Given the description of an element on the screen output the (x, y) to click on. 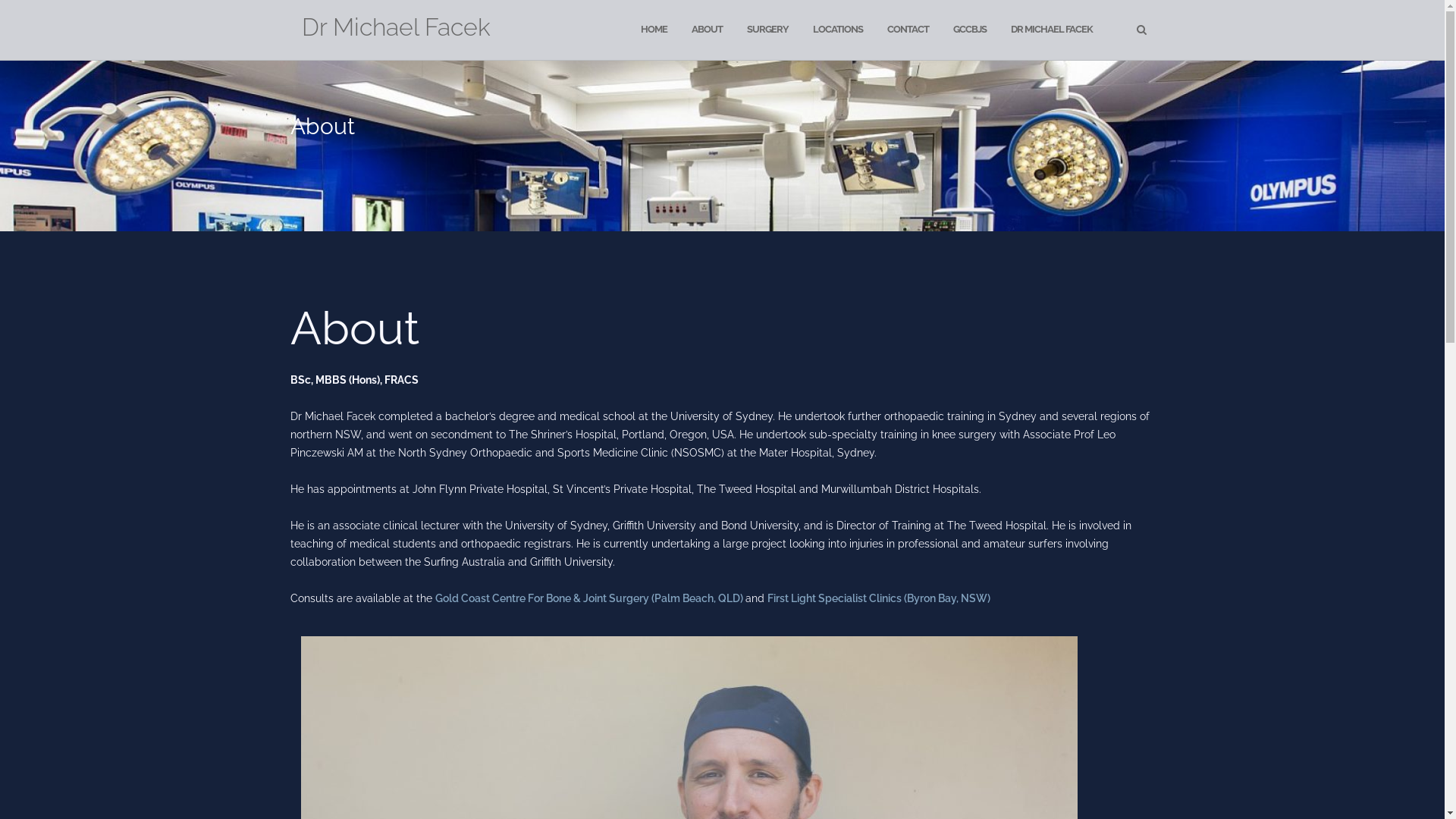
ABOUT Element type: text (706, 29)
DR MICHAEL FACEK Element type: text (1051, 29)
Gold Coast Centre For Bone & Joint Surgery (Palm Beach, QLD) Element type: text (590, 598)
Dr Michael Facek Element type: text (395, 29)
First Light Specialist Clinics (Byron Bay, NSW) Element type: text (878, 598)
CONTACT Element type: text (907, 29)
GCCBJS Element type: text (968, 29)
SURGERY Element type: text (766, 29)
LOCATIONS Element type: text (837, 29)
HOME Element type: text (653, 29)
